Given the description of an element on the screen output the (x, y) to click on. 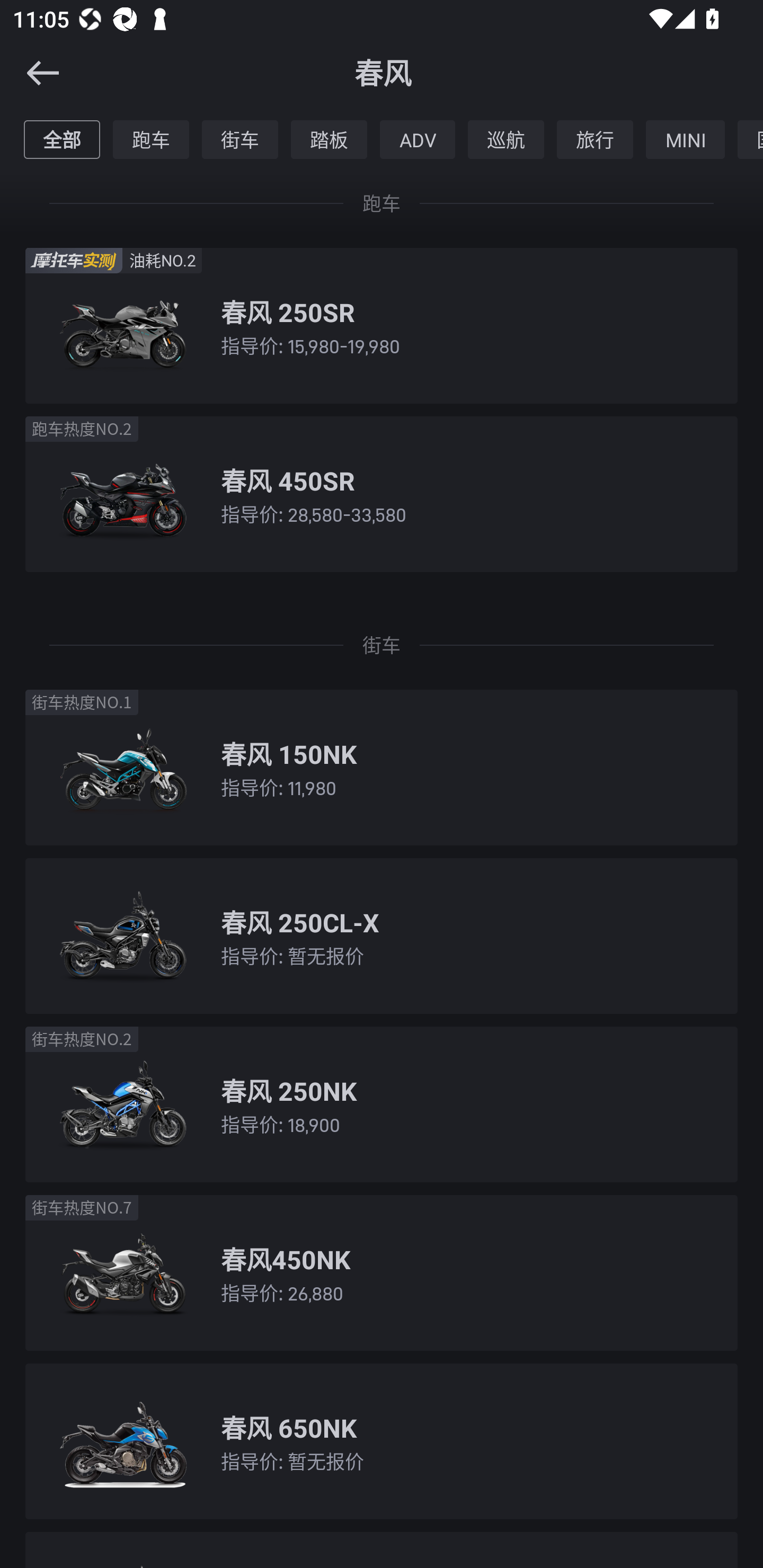
 (30, 72)
全部 (61, 139)
跑车 (150, 139)
街车 (240, 139)
踏板 (328, 139)
ADV (417, 139)
巡航 (505, 139)
旅行 (594, 139)
MINI (685, 139)
油耗NO.2 春风 250SR 指导价: 15,980-19,980 (381, 324)
跑车热度NO.2 春风 450SR 指导价: 28,580-33,580 (381, 494)
跑车热度NO.2 (81, 429)
街车热度NO.1 春风 150NK 指导价: 11,980 (381, 767)
街车热度NO.1 (81, 702)
春风 250CL-X 指导价: 暂无报价 (381, 935)
街车热度NO.2 春风 250NK 指导价: 18,900 (381, 1104)
街车热度NO.2 (81, 1039)
街车热度NO.7 春风450NK 指导价: 26,880 (381, 1272)
街车热度NO.7 (81, 1206)
春风 650NK 指导价: 暂无报价 (381, 1441)
